Given the description of an element on the screen output the (x, y) to click on. 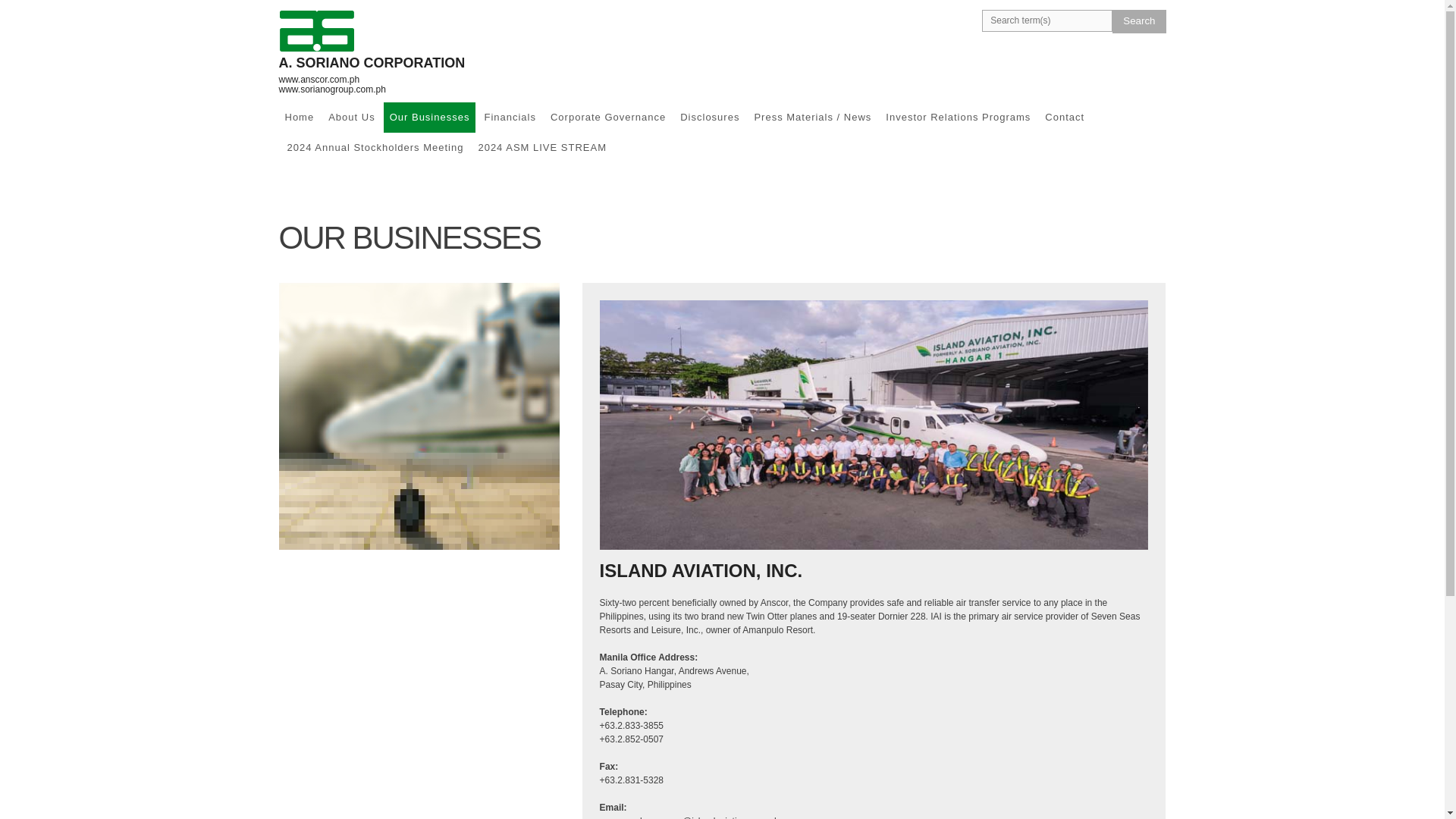
Disclosures (709, 117)
A. SORIANO CORPORATION (372, 62)
Home (299, 117)
Corporate Governance (607, 117)
About Us (350, 117)
Financials (509, 117)
www.anscor.com.ph (319, 79)
Our Businesses (430, 117)
Search (1139, 21)
Search (1139, 21)
